Given the description of an element on the screen output the (x, y) to click on. 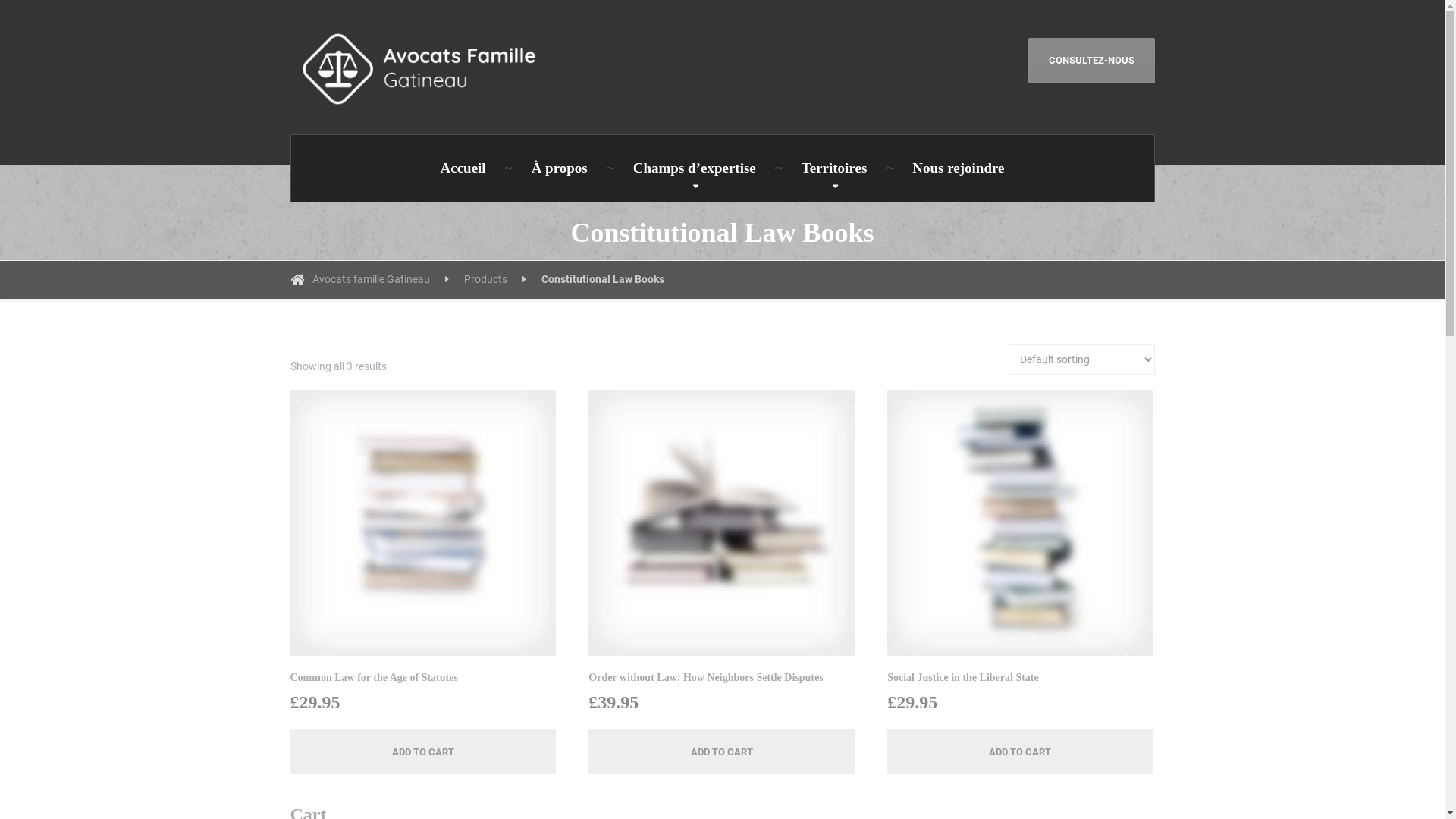
CONSULTEZ-NOUS Element type: text (1091, 60)
ADD TO CART Element type: text (1020, 751)
Products Element type: text (495, 279)
ADD TO CART Element type: text (721, 751)
ADD TO CART Element type: text (422, 751)
Nous rejoindre Element type: text (957, 168)
Avocats famille Gatineau Element type: text (368, 279)
Territoires Element type: text (834, 168)
Accueil Element type: text (462, 168)
